Given the description of an element on the screen output the (x, y) to click on. 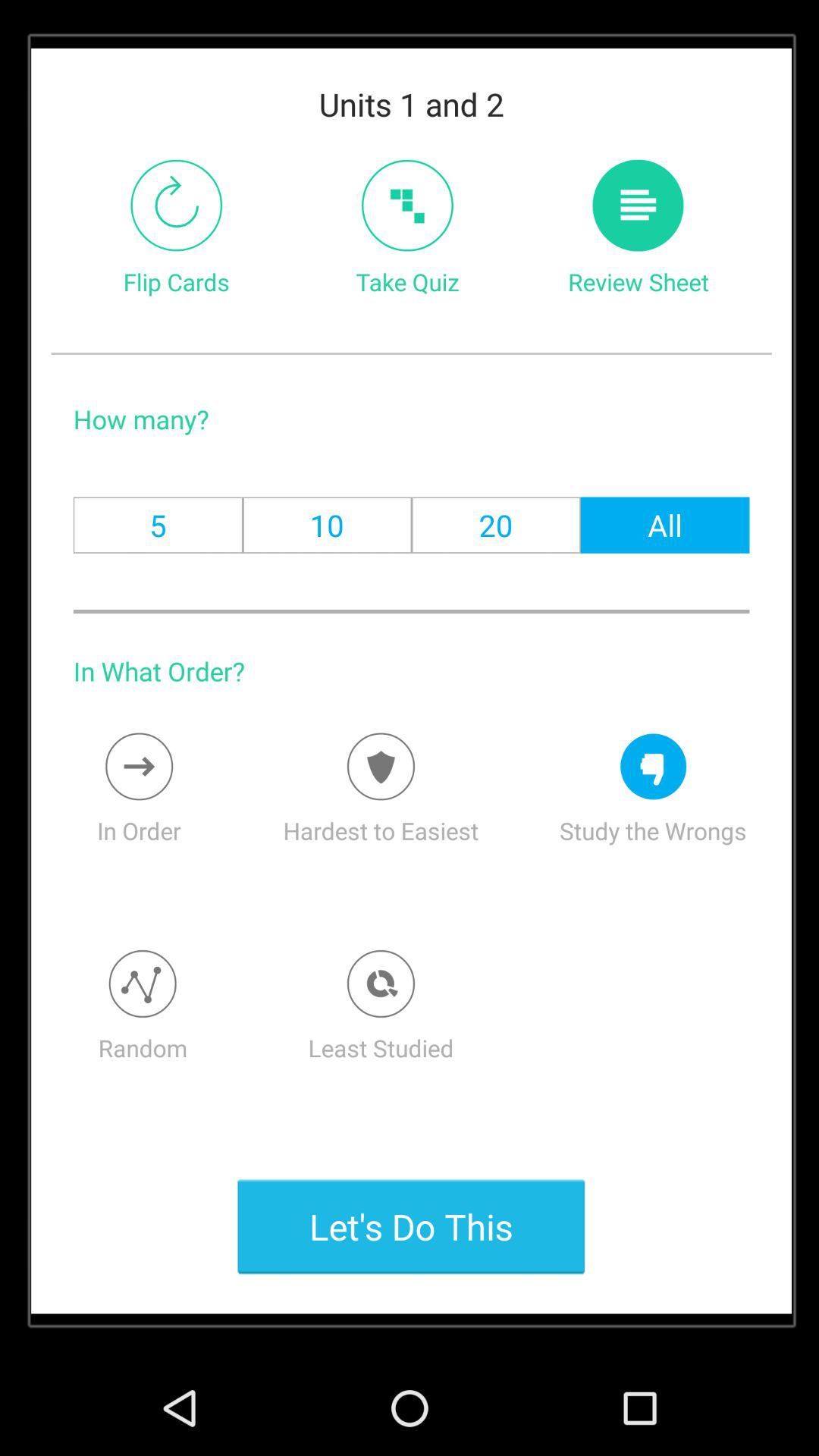
review sheet (638, 205)
